Given the description of an element on the screen output the (x, y) to click on. 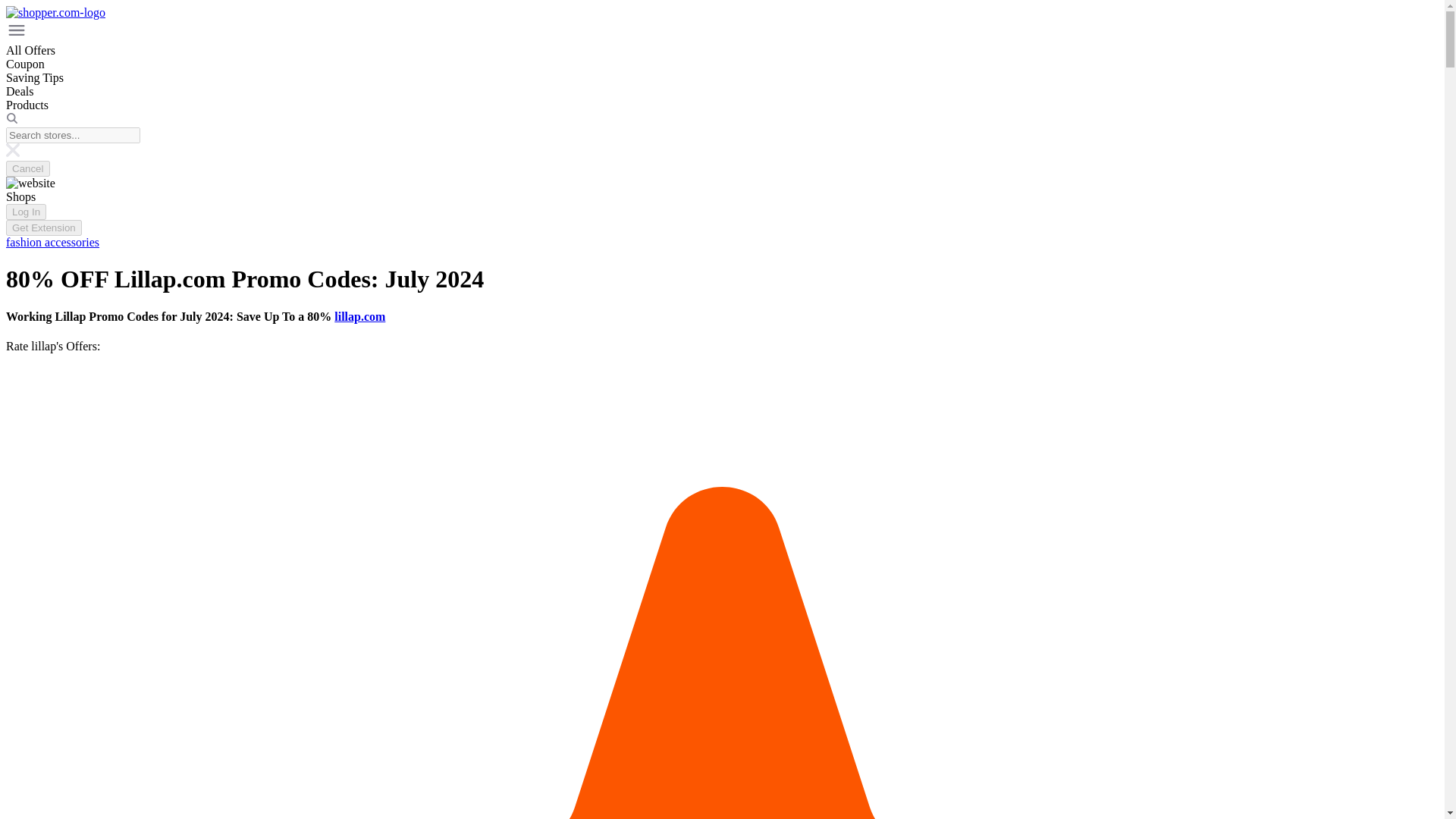
fashion accessories (52, 241)
lillap.com (359, 316)
Get Extension (43, 227)
Cancel (27, 168)
Log In (25, 211)
